Given the description of an element on the screen output the (x, y) to click on. 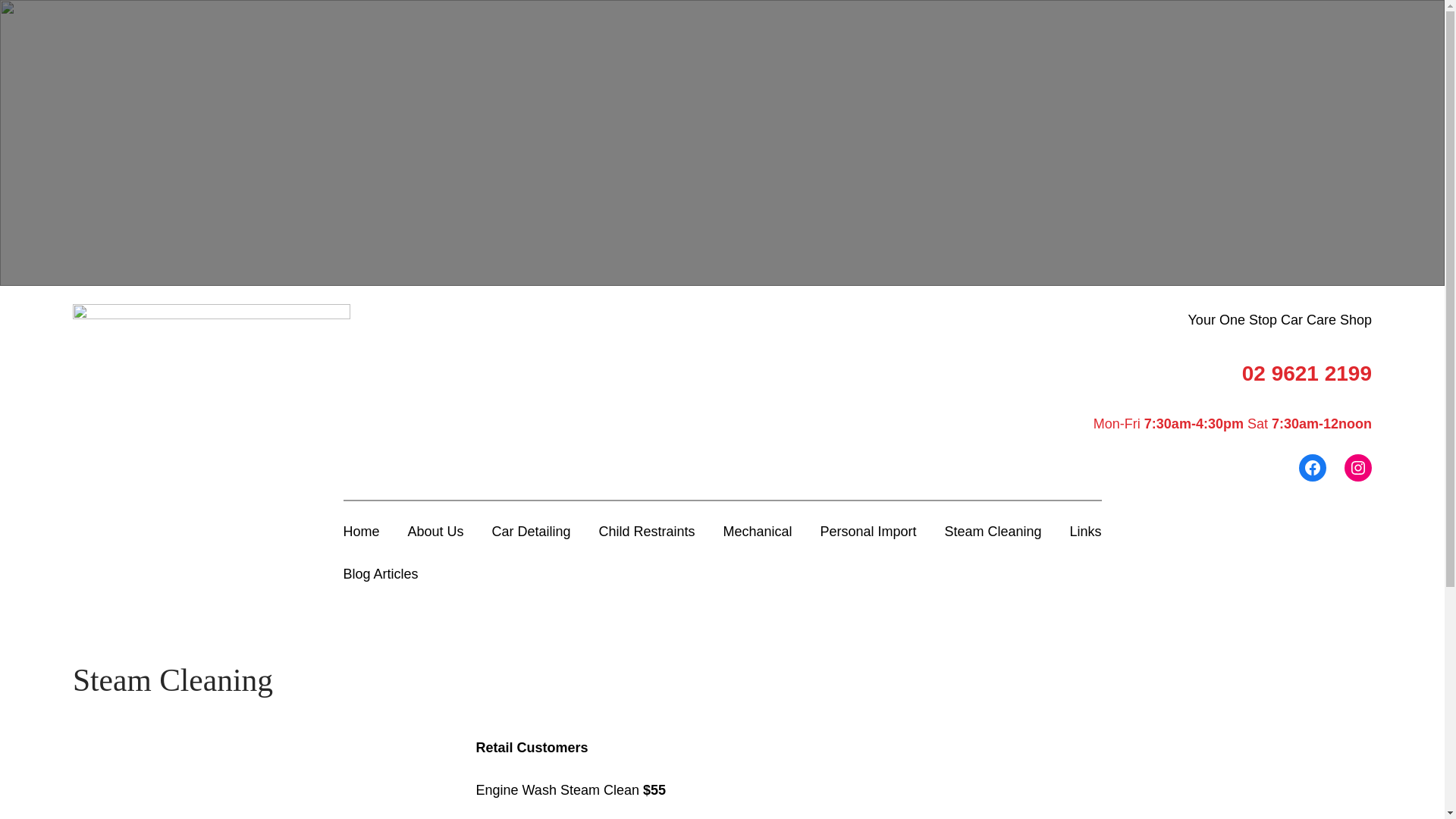
Facebook Element type: text (1312, 467)
Personal Import Element type: text (867, 531)
About Us Element type: text (435, 531)
Mechanical Element type: text (756, 531)
Instagram Element type: text (1357, 467)
Car Detailing Element type: text (530, 531)
Blog Articles Element type: text (379, 573)
Steam Cleaning Element type: text (992, 531)
Home Element type: text (360, 531)
Links Element type: text (1085, 531)
Child Restraints Element type: text (646, 531)
